Given the description of an element on the screen output the (x, y) to click on. 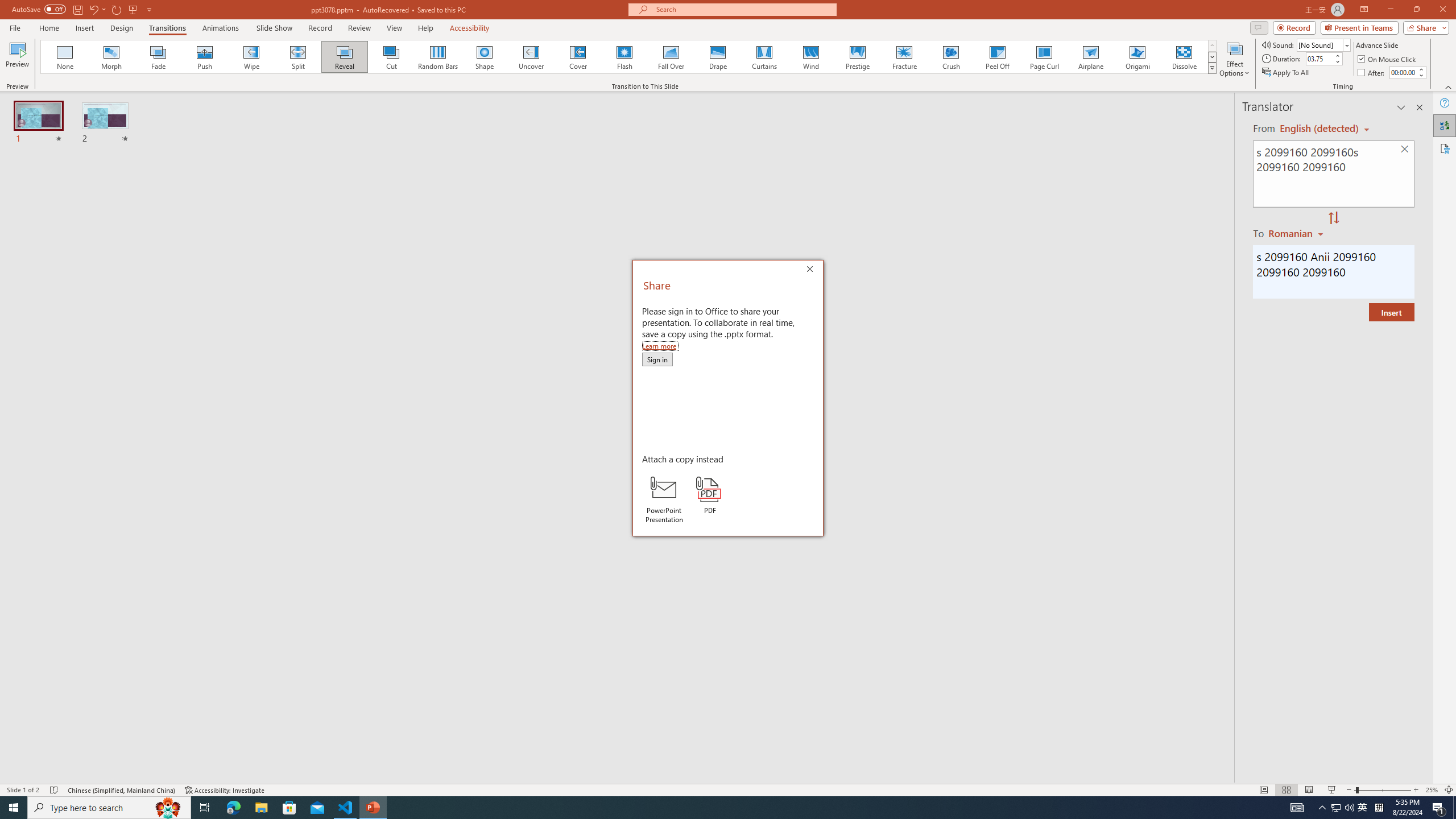
Sound (1324, 44)
Duration (1319, 58)
